Given the description of an element on the screen output the (x, y) to click on. 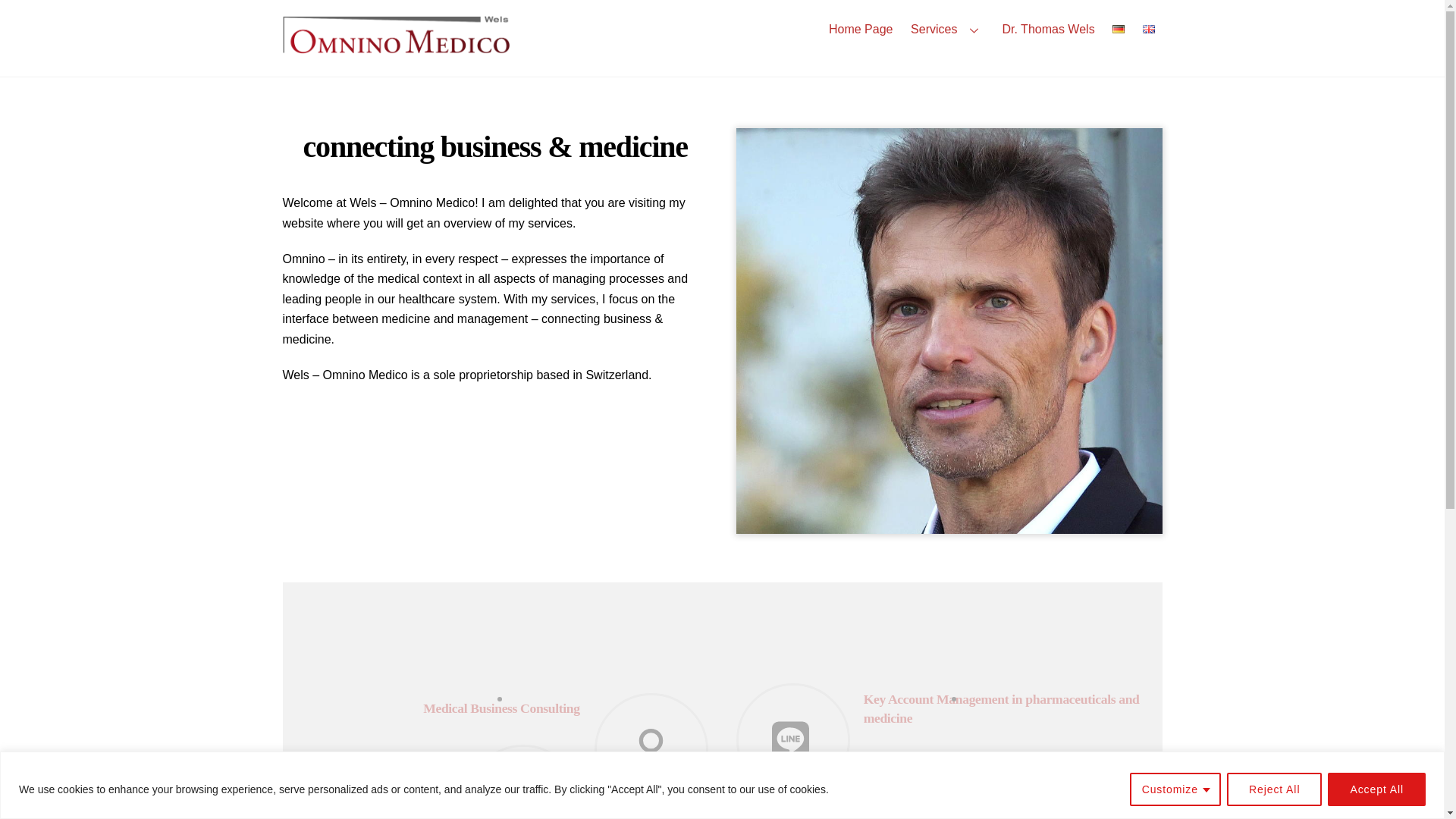
Customize (721, 29)
Key Account Management in pharmaceuticals and medicine (1175, 788)
Conception and moderation of events (1001, 708)
Medical Business Consulting (1073, 779)
Reject All (501, 708)
Dr. Thomas Wels (1274, 788)
Omnino Medico (1048, 29)
Home Page (395, 47)
Interim management in pharmaceuticals and medicine (860, 29)
Logo Omnino Medico (368, 769)
Accept All (395, 34)
Services (1376, 788)
